Given the description of an element on the screen output the (x, y) to click on. 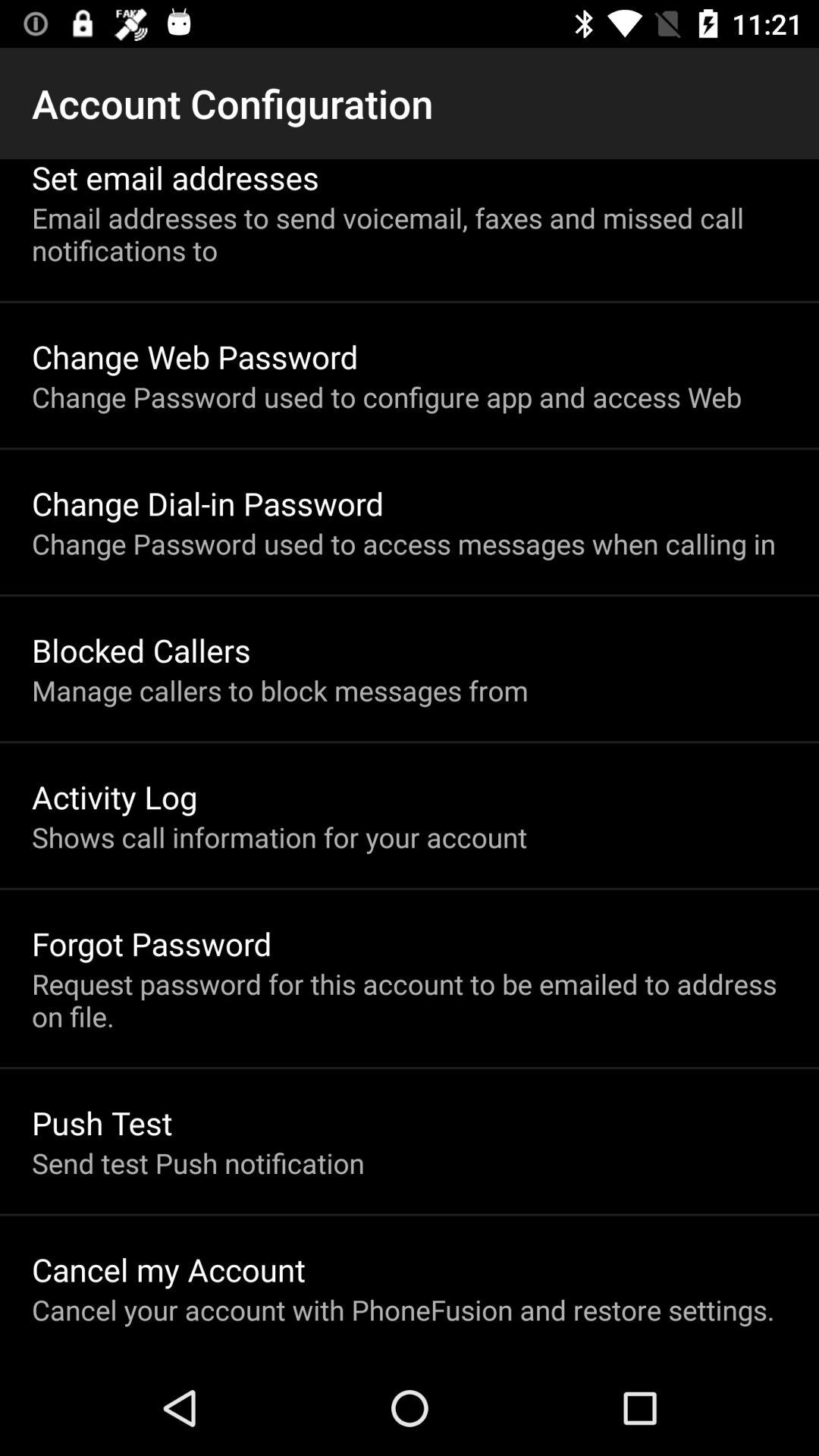
choose app below the shows call information app (151, 943)
